Given the description of an element on the screen output the (x, y) to click on. 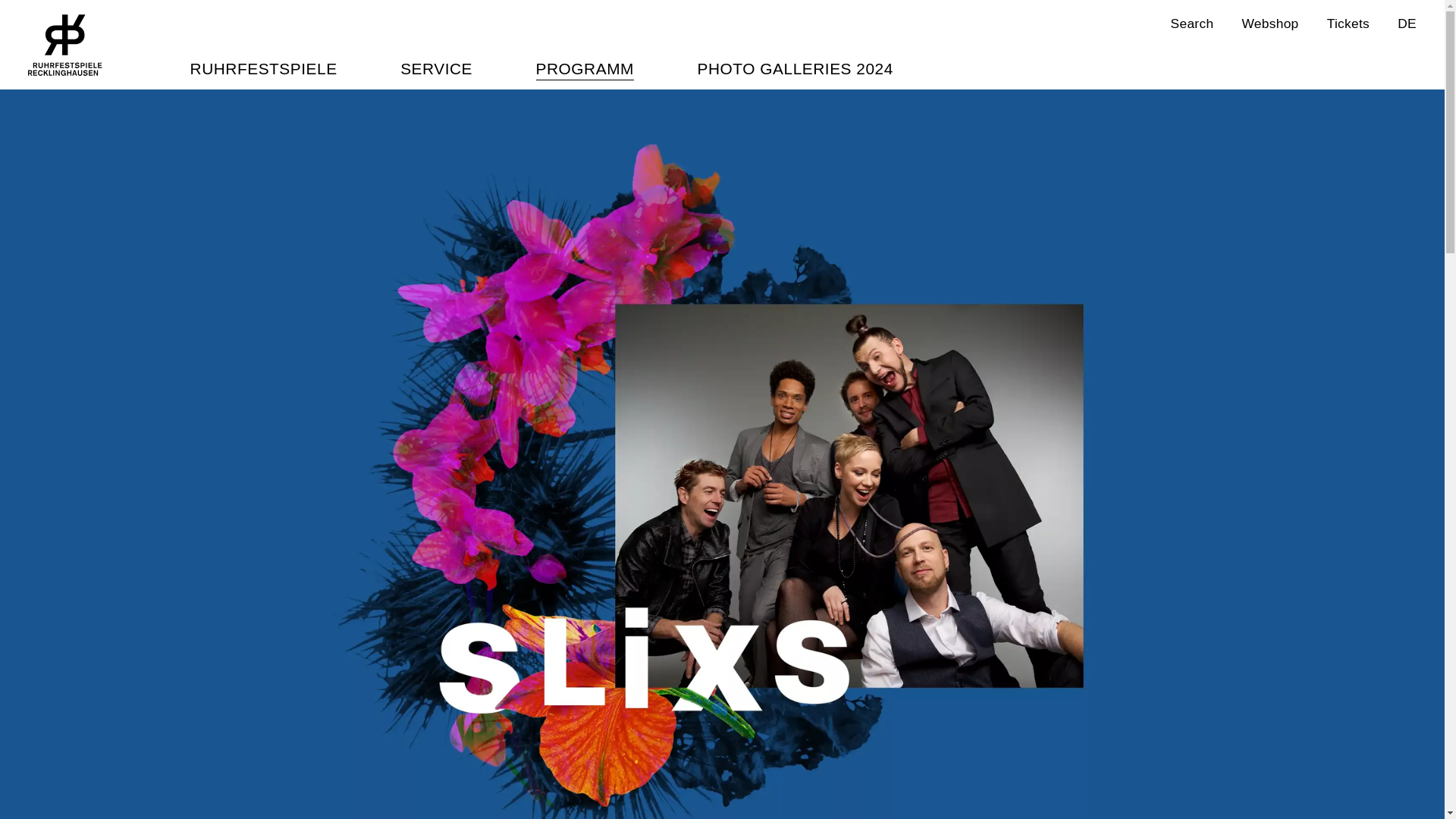
PROGRAMM (584, 68)
Webshop (1269, 23)
Search (1192, 23)
PHOTO GALLERIES 2024 (795, 68)
DE (64, 45)
Tickets (1406, 23)
Ruhrfestspiele Recklinghausen (1348, 23)
RUHRFESTSPIELE (64, 45)
SERVICE (263, 68)
